Given the description of an element on the screen output the (x, y) to click on. 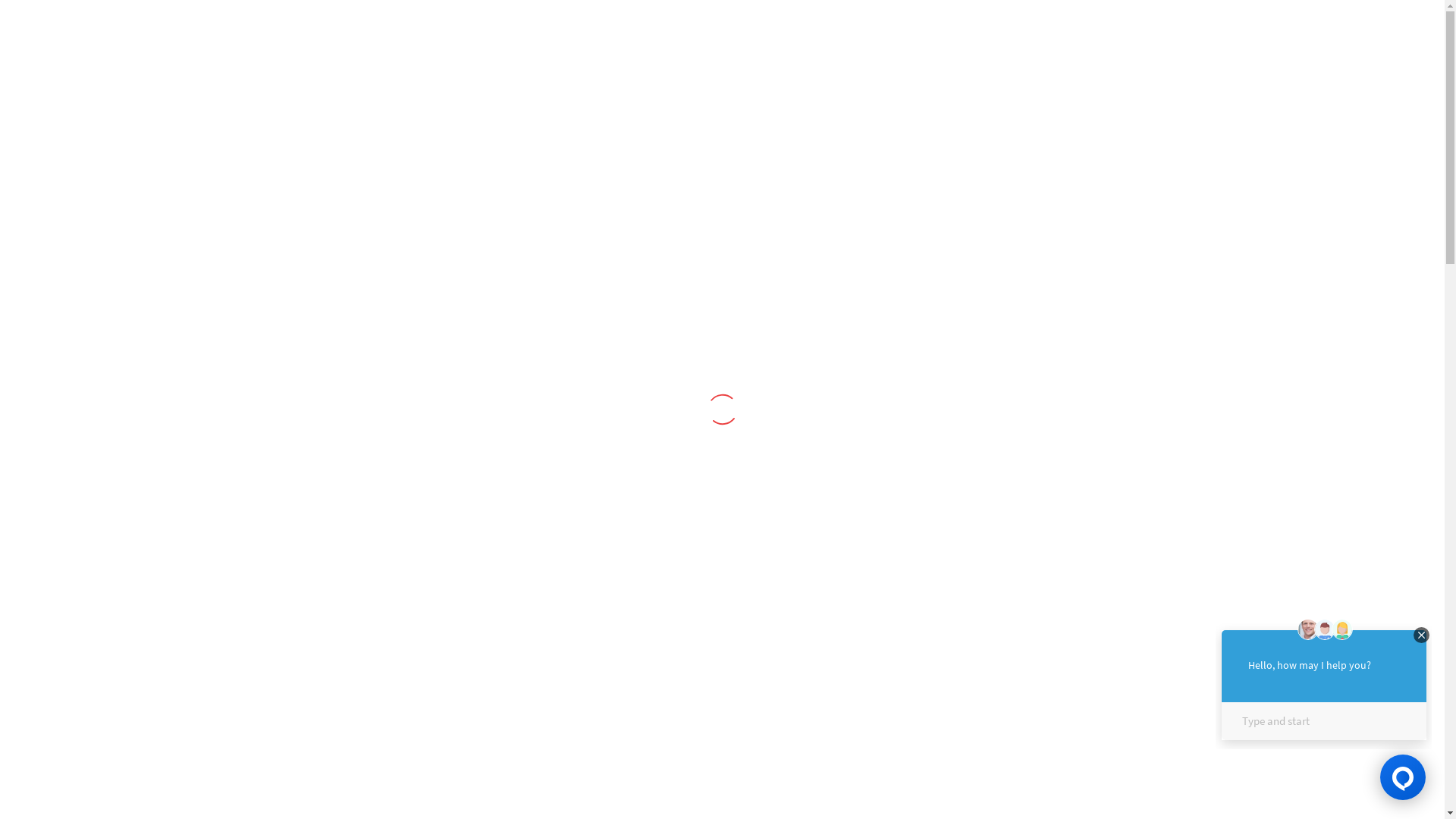
Home Element type: text (299, 117)
365 Home Security Your Local Security Group Element type: hover (349, 36)
All Service Areas Element type: text (682, 117)
365 Home Security Home Page Element type: hover (349, 35)
Frontpoint Home Security System Detroit Michigan Element type: text (381, 742)
Detroit Services Element type: text (527, 117)
Get Quote Element type: text (912, 117)
Adt Home Security System Detroit Michigan Element type: text (381, 473)
Vivint Home Security System Detroit Michigan Element type: text (381, 527)
Saving Element type: text (808, 117)
Simplisafe Home Security System Detroit Michigan Element type: text (381, 688)
Detroit Michigan Services Element type: text (597, 295)
About Us Element type: text (395, 117)
Ring Home Security System Detroit Michigan Element type: text (381, 635)
Chat Invitation Element type: hover (1322, 682)
Brinks Home Security System Detroit Michigan Element type: text (381, 581)
Home Element type: text (498, 295)
